Given the description of an element on the screen output the (x, y) to click on. 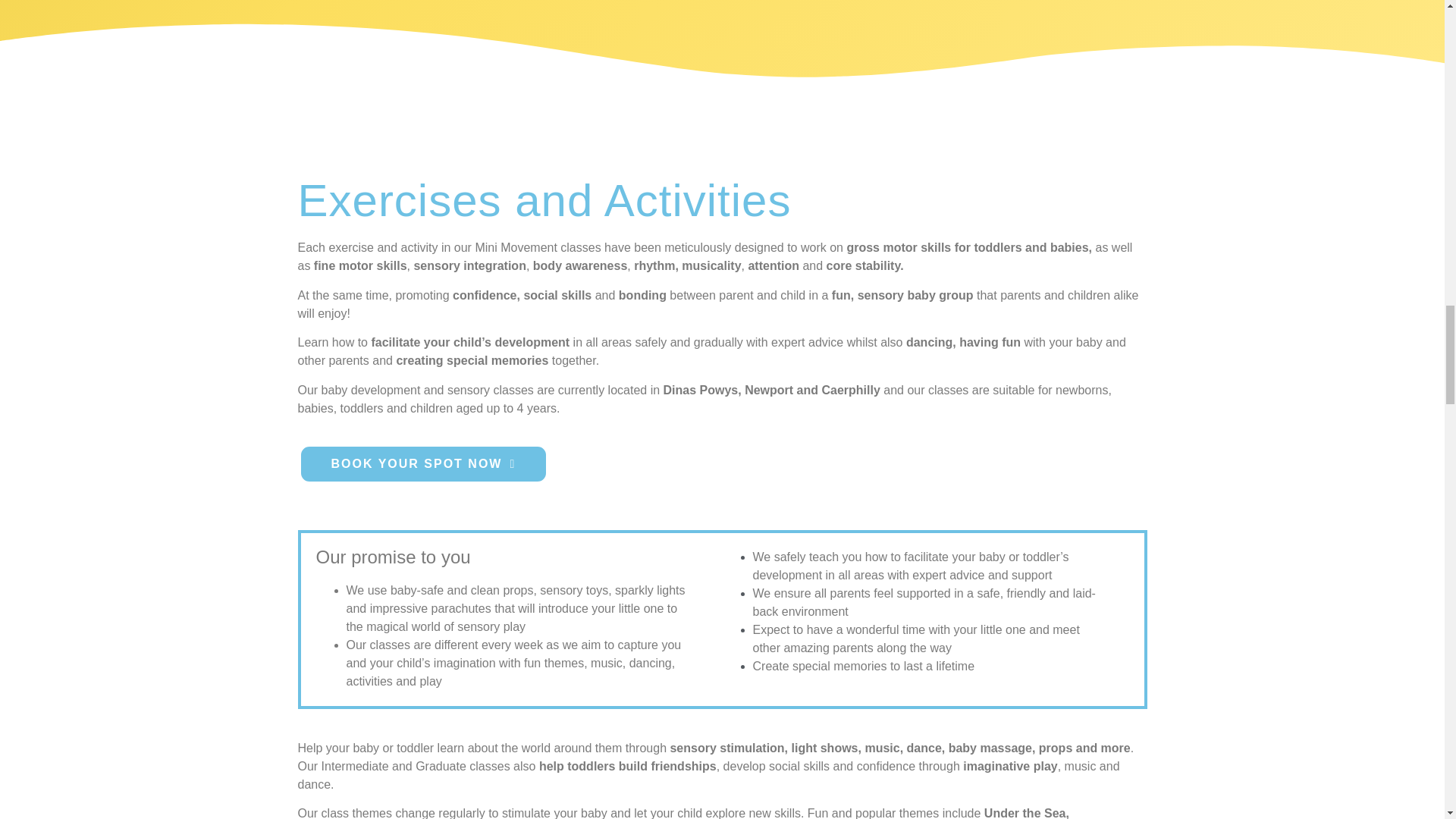
BOOK YOUR SPOT NOW (422, 463)
